Given the description of an element on the screen output the (x, y) to click on. 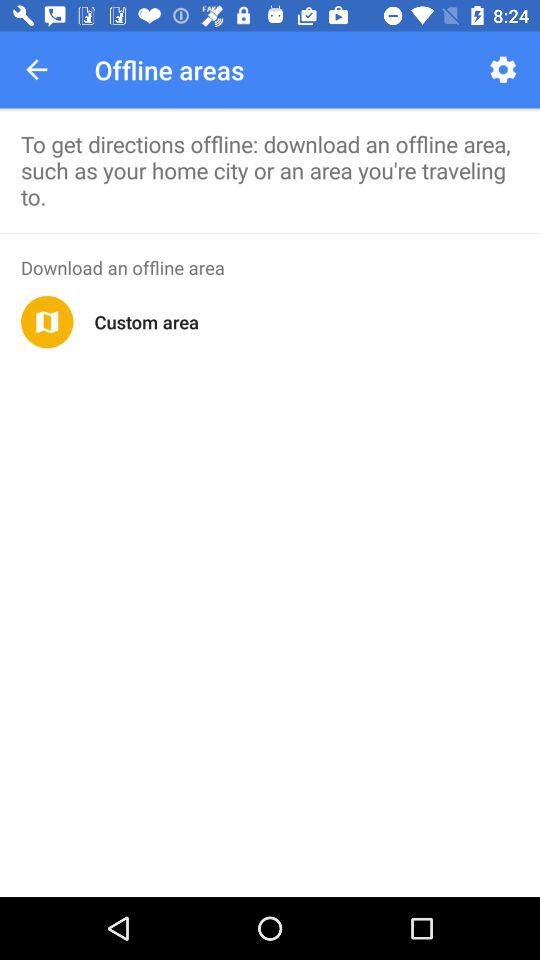
open icon next to the offline areas icon (502, 69)
